Given the description of an element on the screen output the (x, y) to click on. 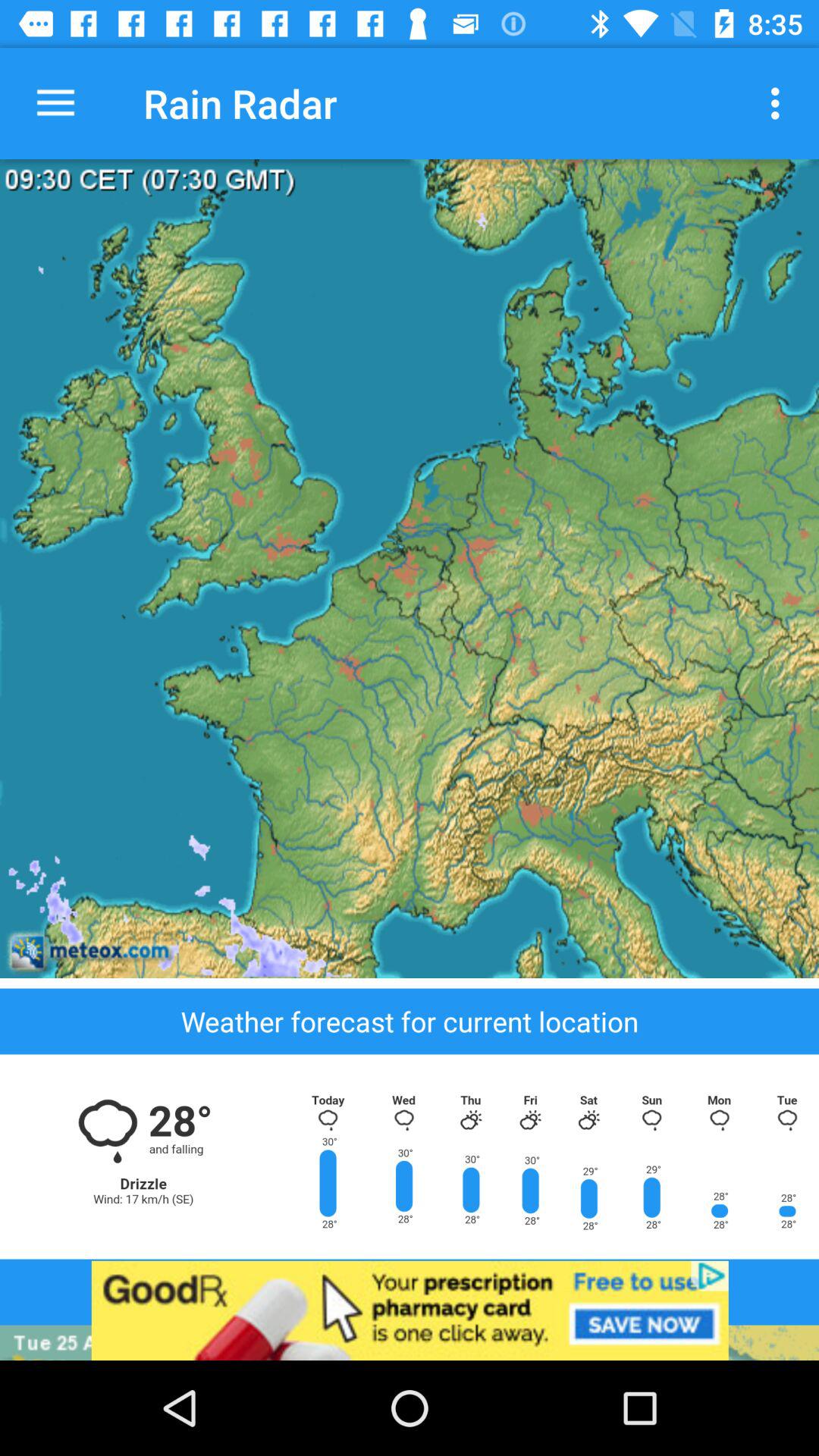
open advertisement (409, 1310)
